Given the description of an element on the screen output the (x, y) to click on. 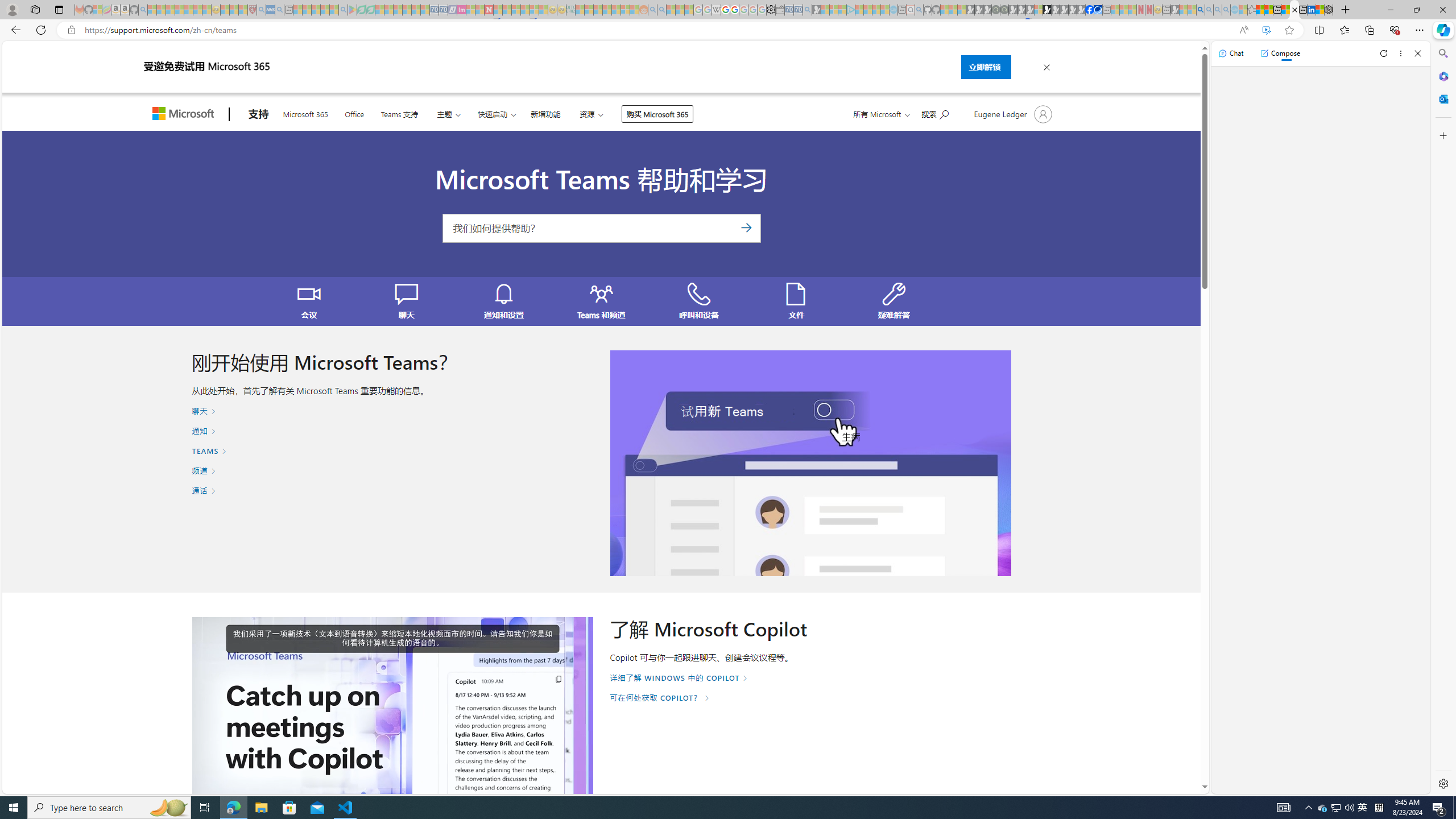
New Report Confirms 2023 Was Record Hot | Watch - Sleeping (188, 9)
New tab (1302, 9)
Home | Sky Blue Bikes - Sky Blue Bikes - Sleeping (892, 9)
Nordace | Facebook (1089, 9)
Settings (770, 9)
Address and search bar (658, 29)
Wallet - Sleeping (779, 9)
